Given the description of an element on the screen output the (x, y) to click on. 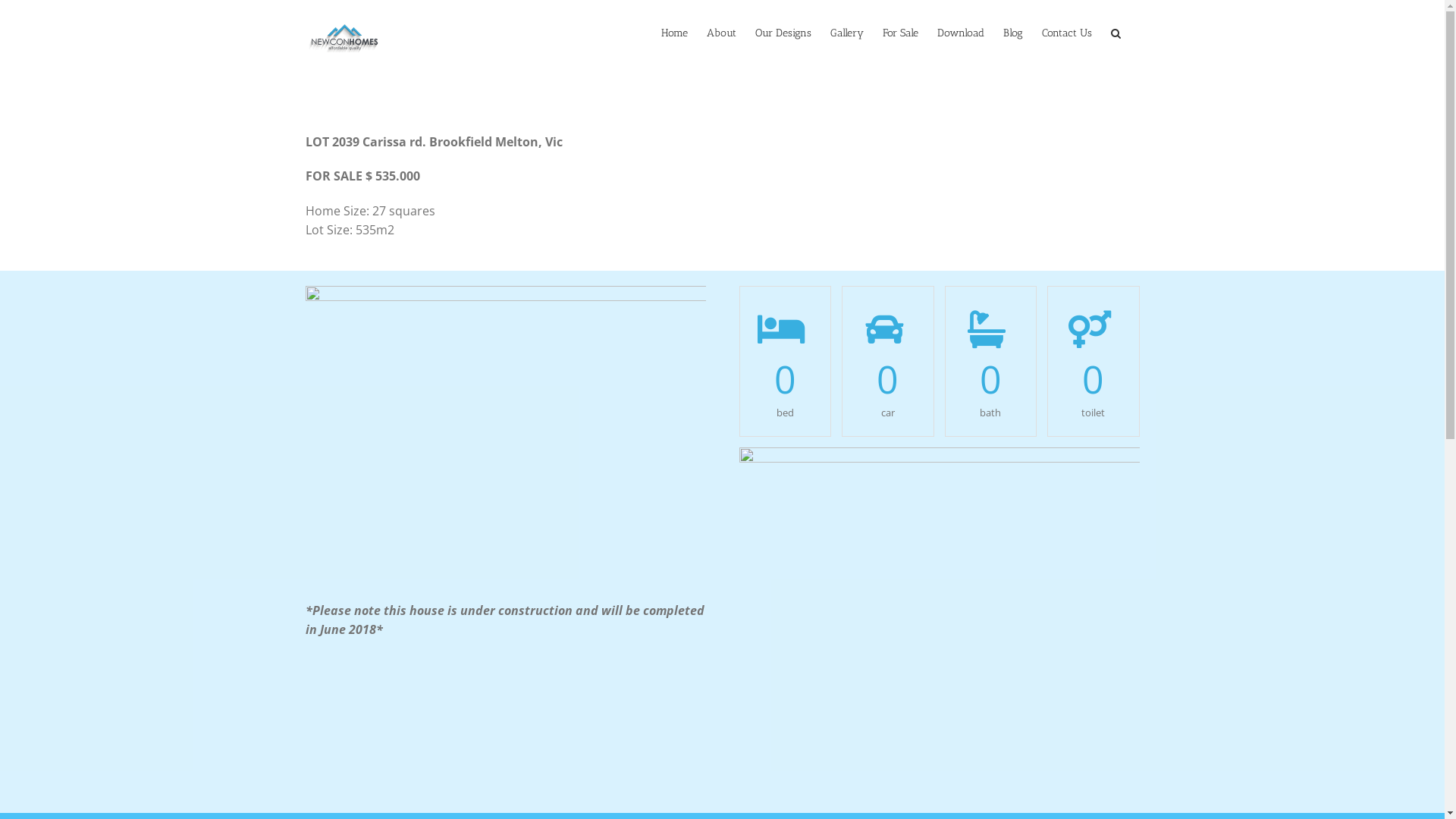
About Element type: text (721, 31)
Gallery Element type: text (845, 31)
Contact Us Element type: text (1066, 31)
Blog Element type: text (1012, 31)
Search Element type: hover (1115, 31)
Home Element type: text (674, 31)
Our Designs Element type: text (783, 31)
Download Element type: text (960, 31)
For Sale Element type: text (900, 31)
